Given the description of an element on the screen output the (x, y) to click on. 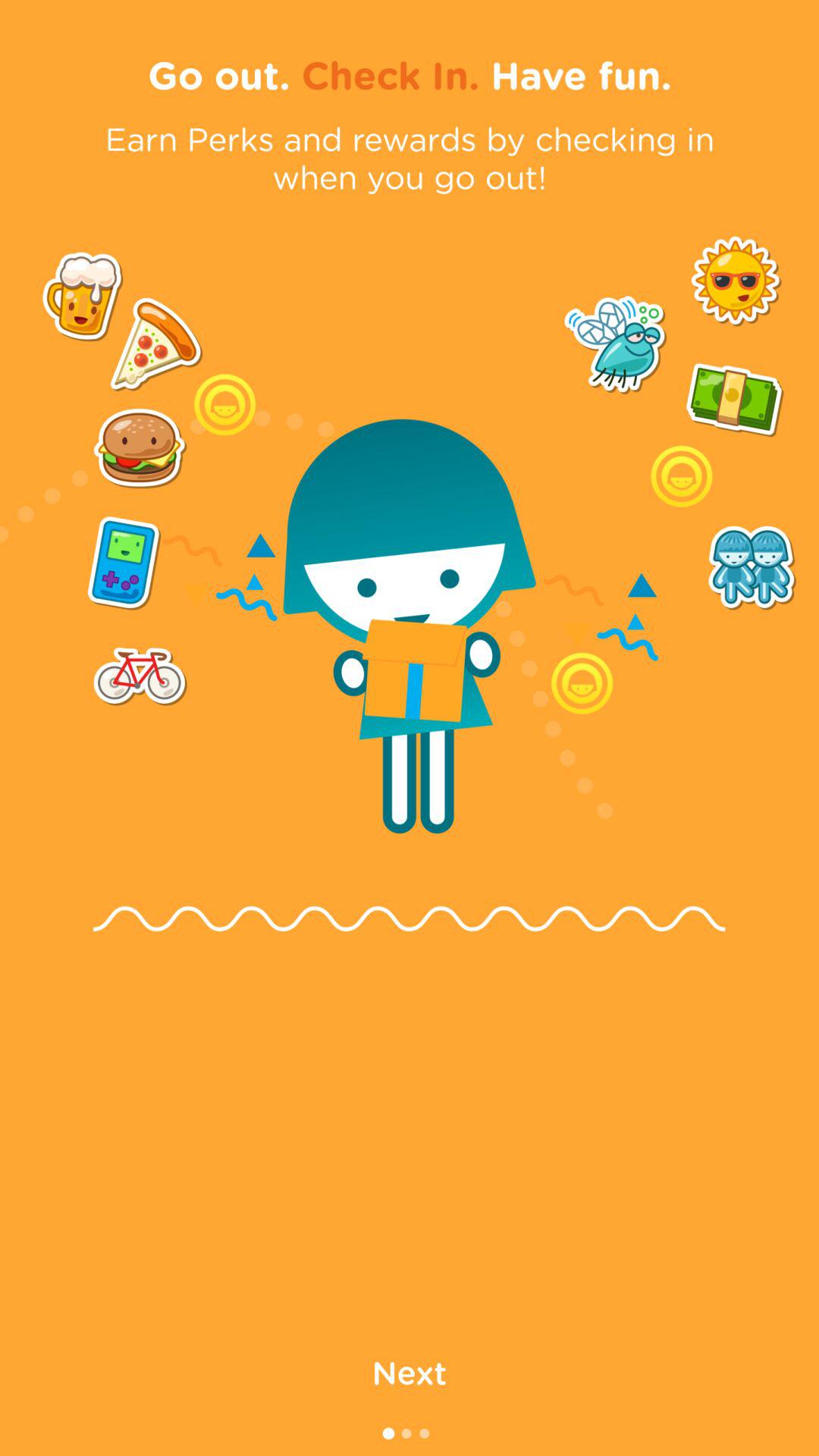
scroll until the next (409, 1371)
